Given the description of an element on the screen output the (x, y) to click on. 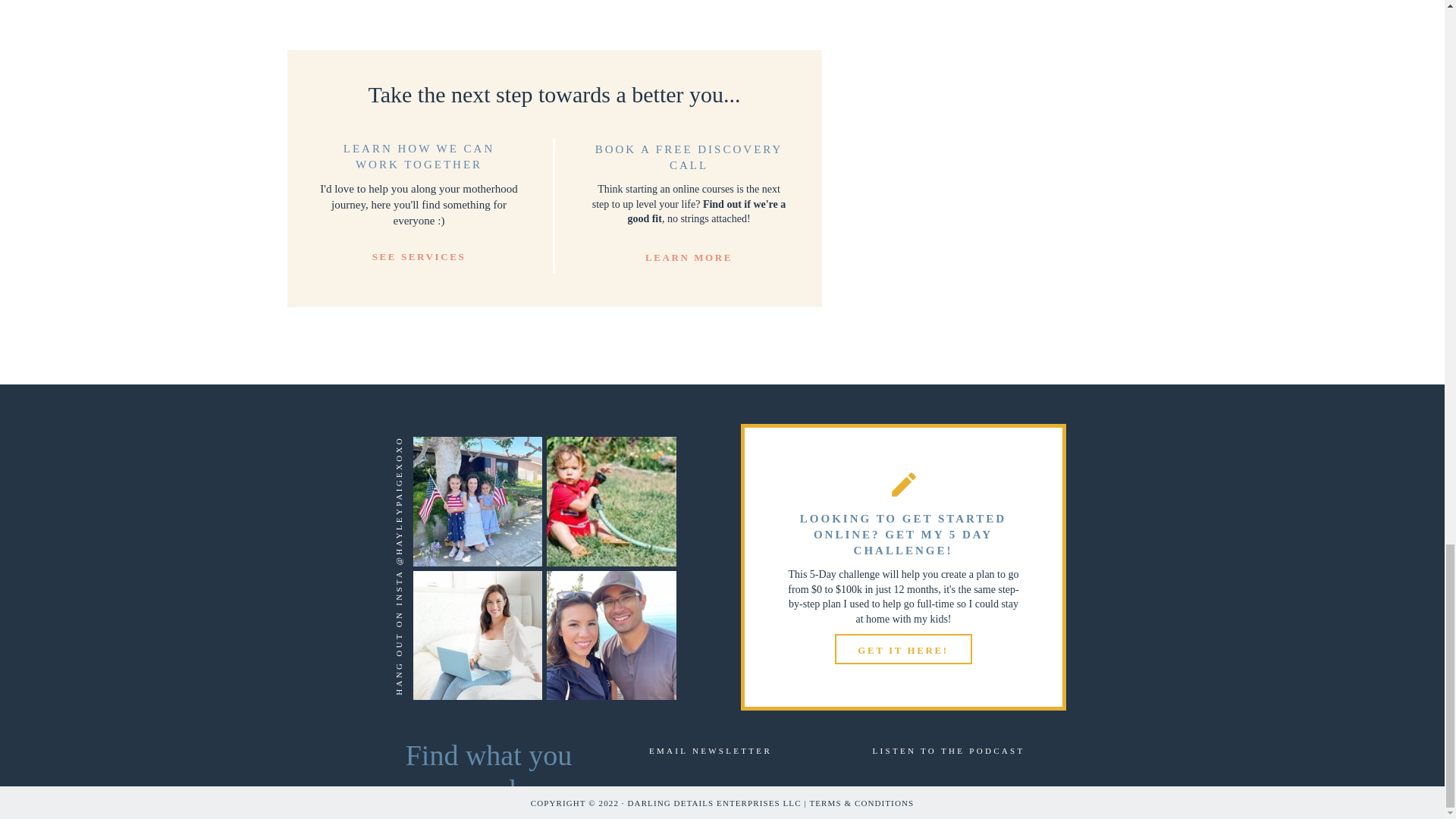
hpjig-1 (476, 501)
hpjig-3 (612, 501)
hpjig-2 (476, 635)
hpjig-4 (612, 635)
